Given the description of an element on the screen output the (x, y) to click on. 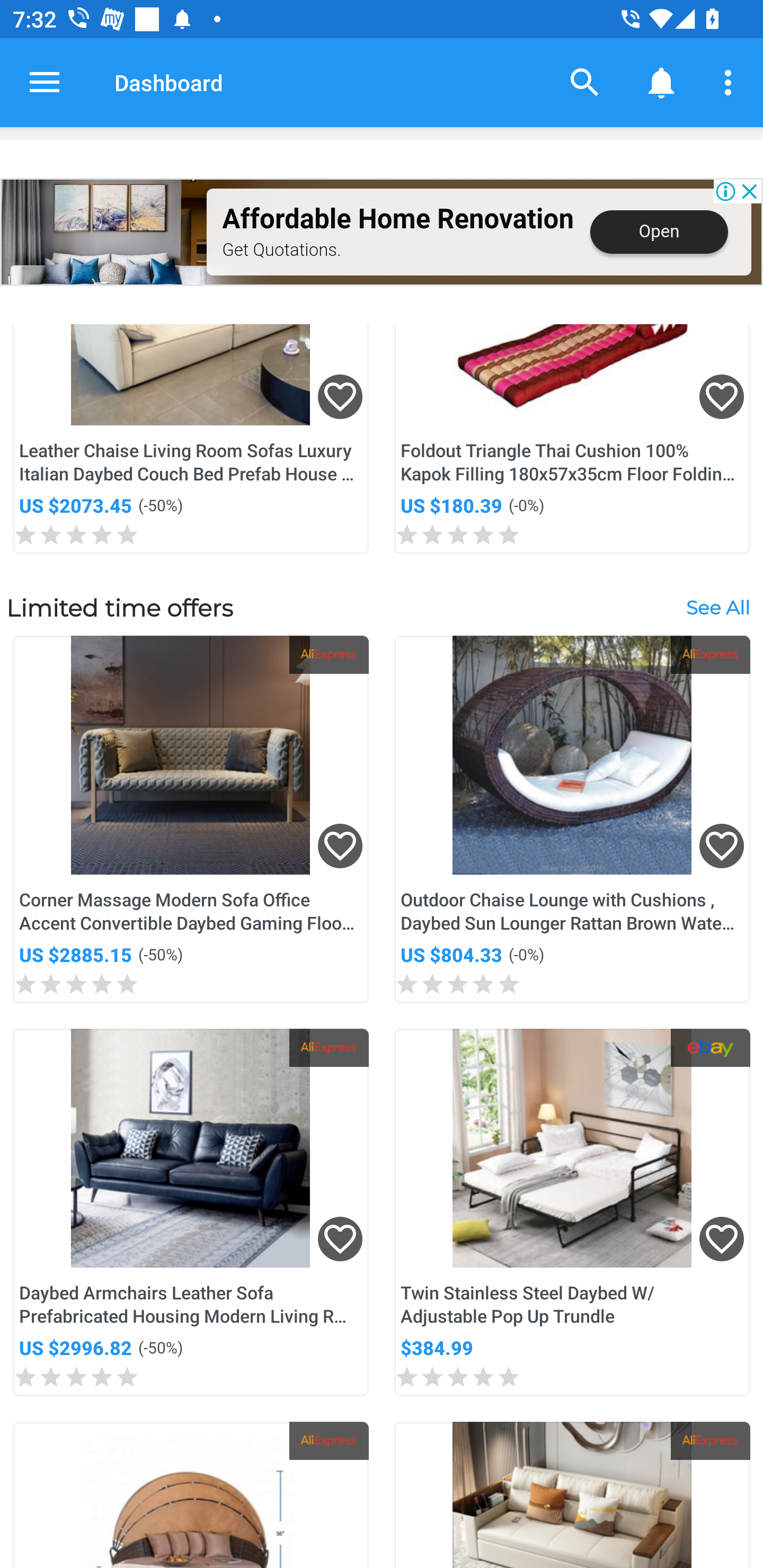
Open navigation drawer (44, 82)
Search (585, 81)
More options (731, 81)
free-quote (104, 231)
Affordable Home Renovation (397, 219)
Open (658, 232)
Get Quotations. (281, 249)
See All (717, 606)
